Given the description of an element on the screen output the (x, y) to click on. 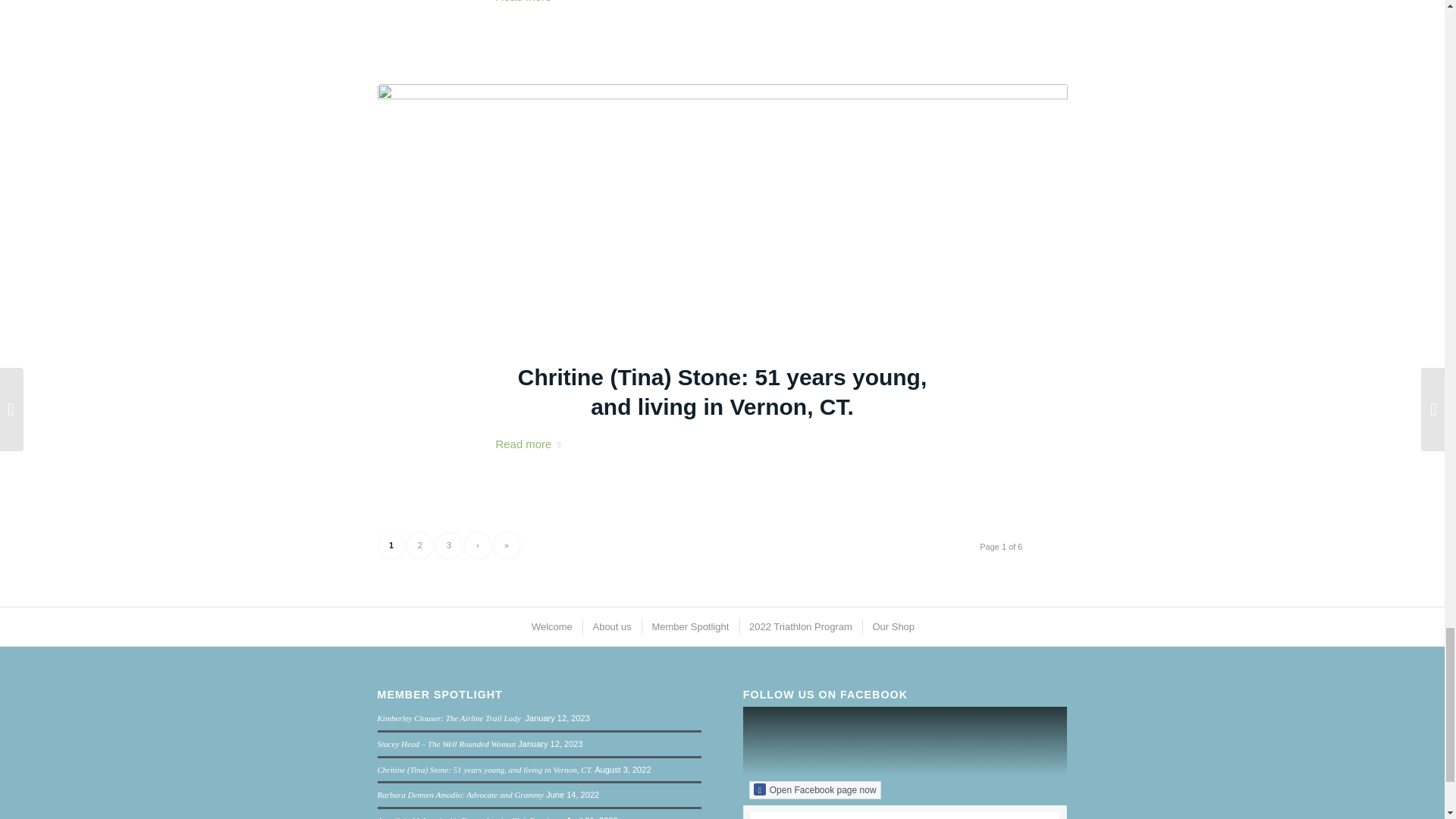
3 (448, 545)
2022 Triathlon Program (799, 626)
Read more (531, 444)
2 (419, 545)
Kimberley Clouser: The Airline Trail Lady  (449, 717)
Annalicia McIntosh: Air Force, Auntie, Club Developer (470, 817)
Our Shop (891, 626)
About us (610, 626)
Read more (531, 3)
Barbara Dennen Amodio: Advocate and Grammy (460, 794)
Member Spotlight (689, 626)
Welcome (550, 626)
